Given the description of an element on the screen output the (x, y) to click on. 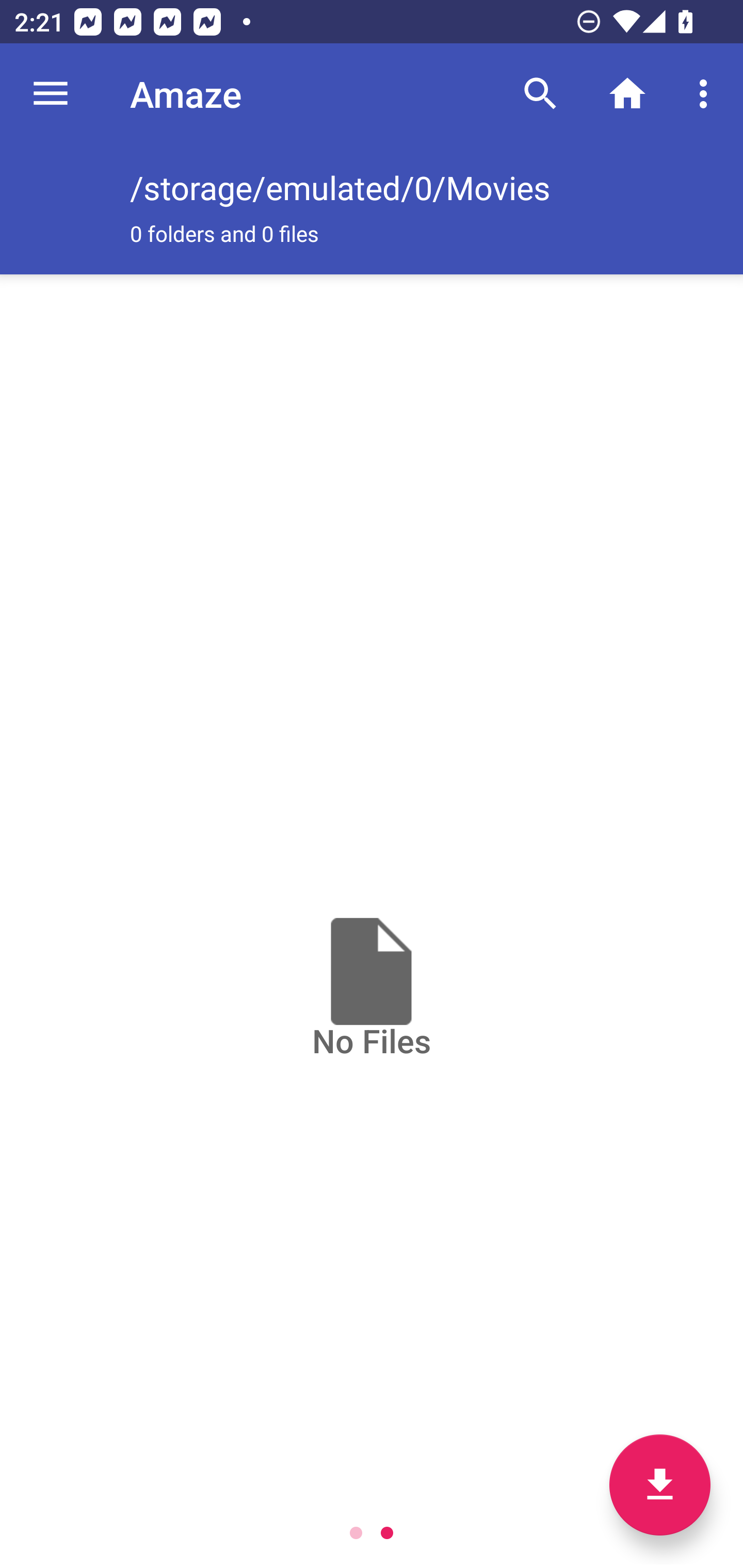
Navigate up (50, 93)
Search (540, 93)
Home (626, 93)
More options (706, 93)
